Given the description of an element on the screen output the (x, y) to click on. 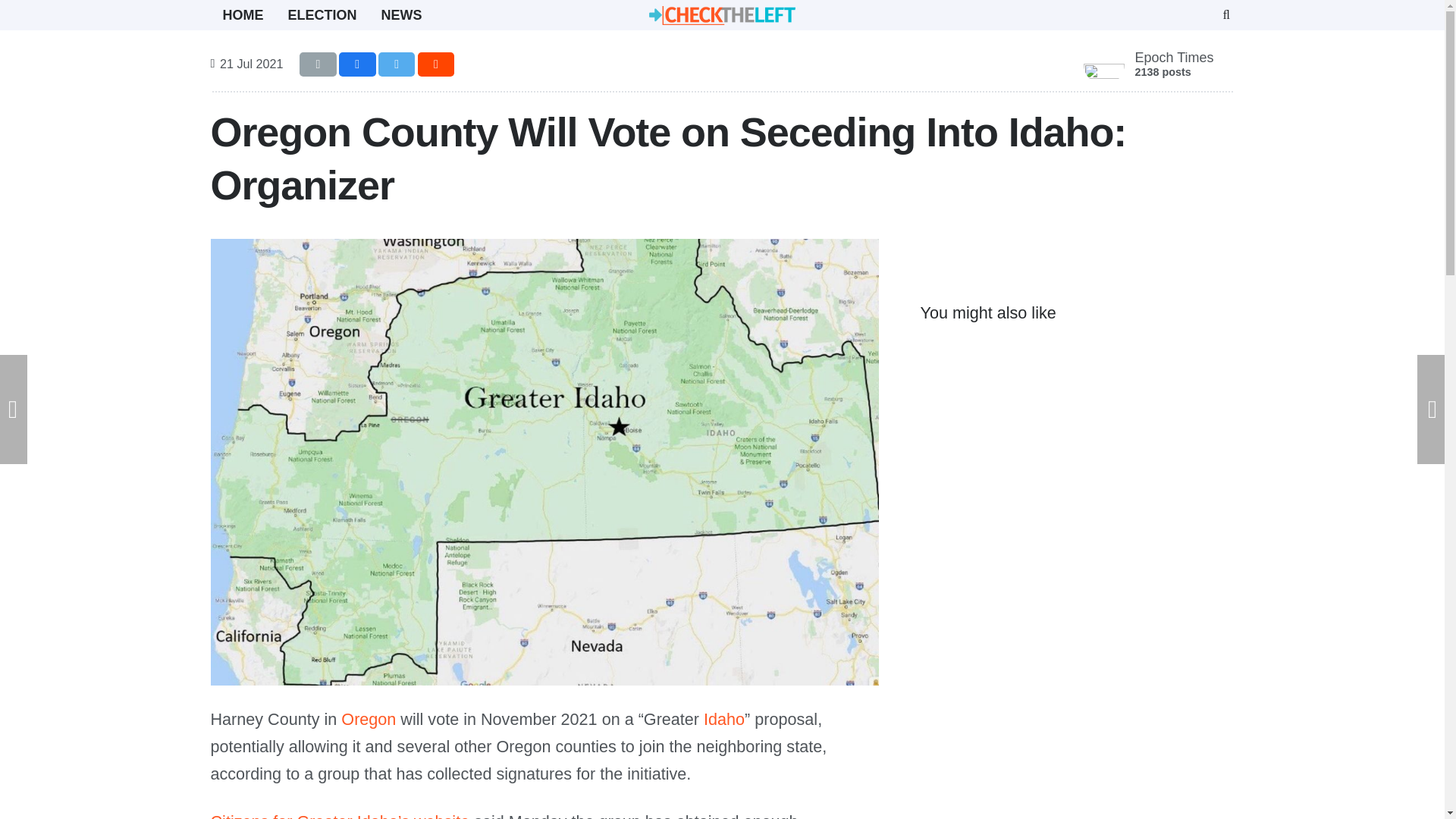
Share this (357, 64)
Tweet this (396, 64)
Epoch Times (317, 64)
HOME (1173, 57)
ELECTION (243, 15)
Oregon (322, 15)
Idaho (368, 719)
Share this (723, 719)
